Given the description of an element on the screen output the (x, y) to click on. 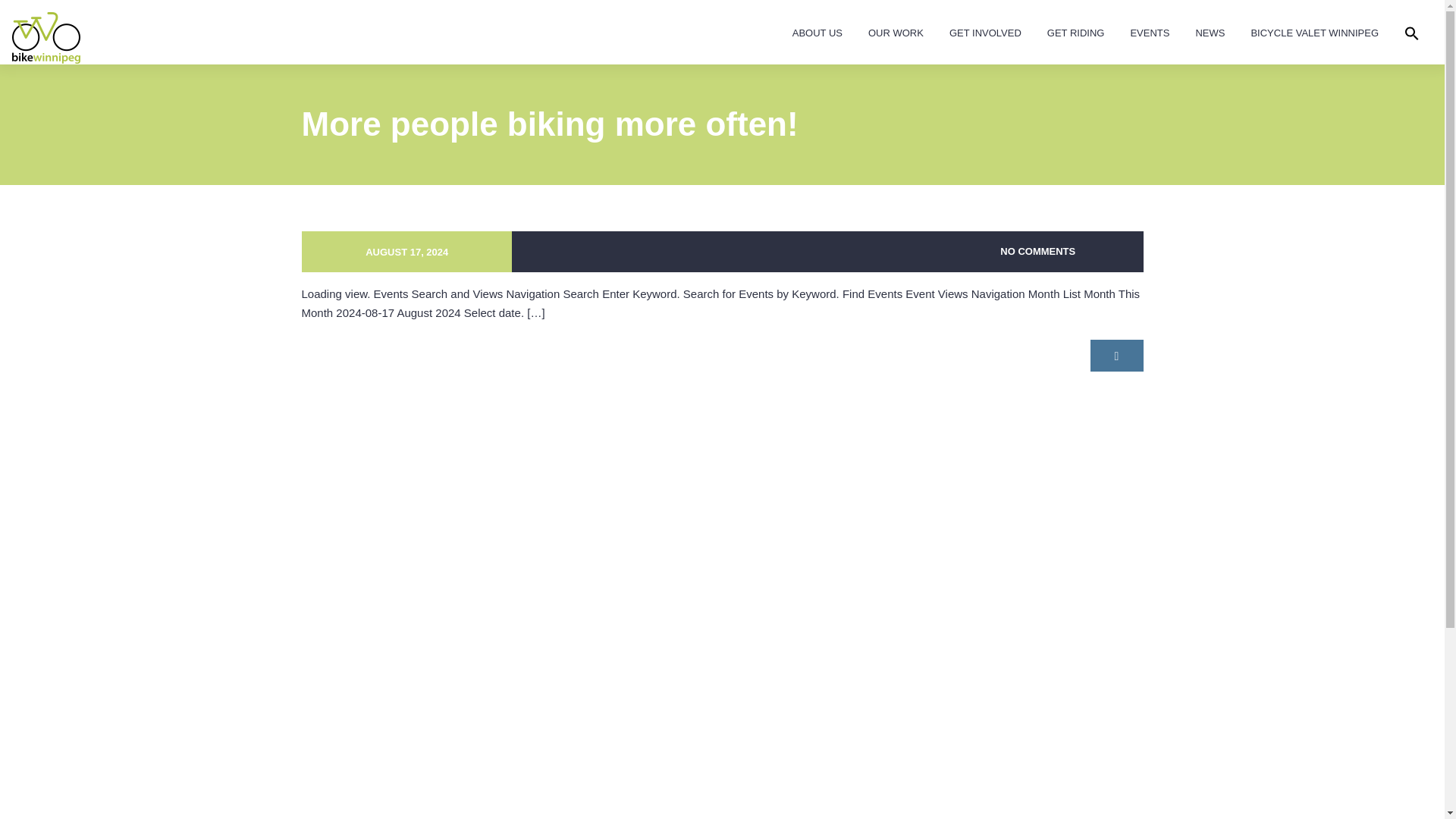
Bike Winnipeg (45, 37)
GET RIDING (1075, 35)
BICYCLE VALET WINNIPEG (1314, 35)
NEWS (1209, 35)
GET INVOLVED (984, 35)
What can you do to make things better? (896, 35)
ABOUT US (817, 35)
EVENTS (1149, 35)
OUR WORK (896, 35)
